Given the description of an element on the screen output the (x, y) to click on. 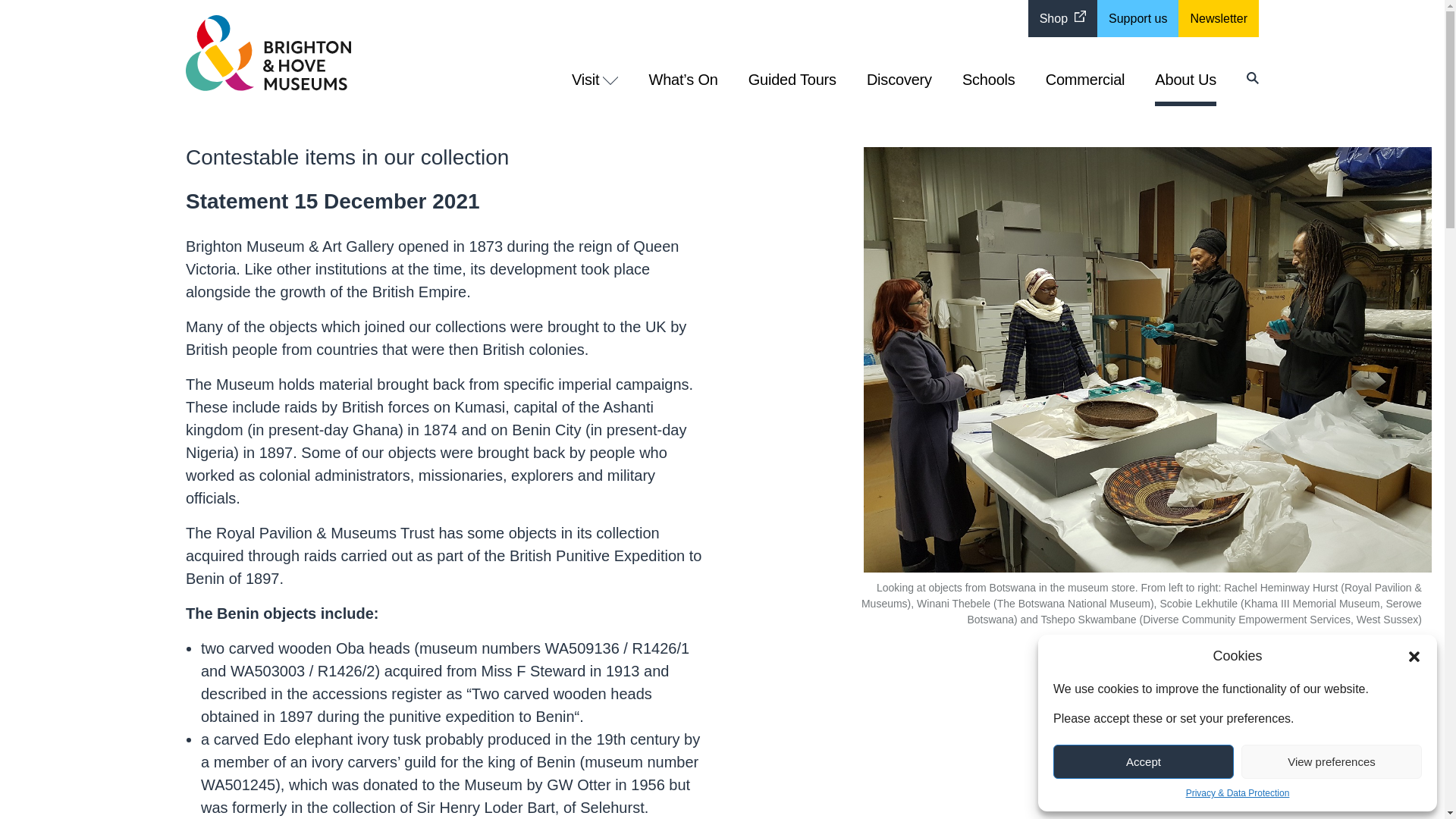
About Us (1184, 86)
Newsletter (1218, 18)
Discovery (898, 89)
Visit (594, 89)
Shop (1062, 18)
Commercial (1085, 89)
Support us (1137, 18)
Schools (988, 89)
View preferences (1331, 761)
Guided Tours (791, 89)
Accept (1142, 761)
